Given the description of an element on the screen output the (x, y) to click on. 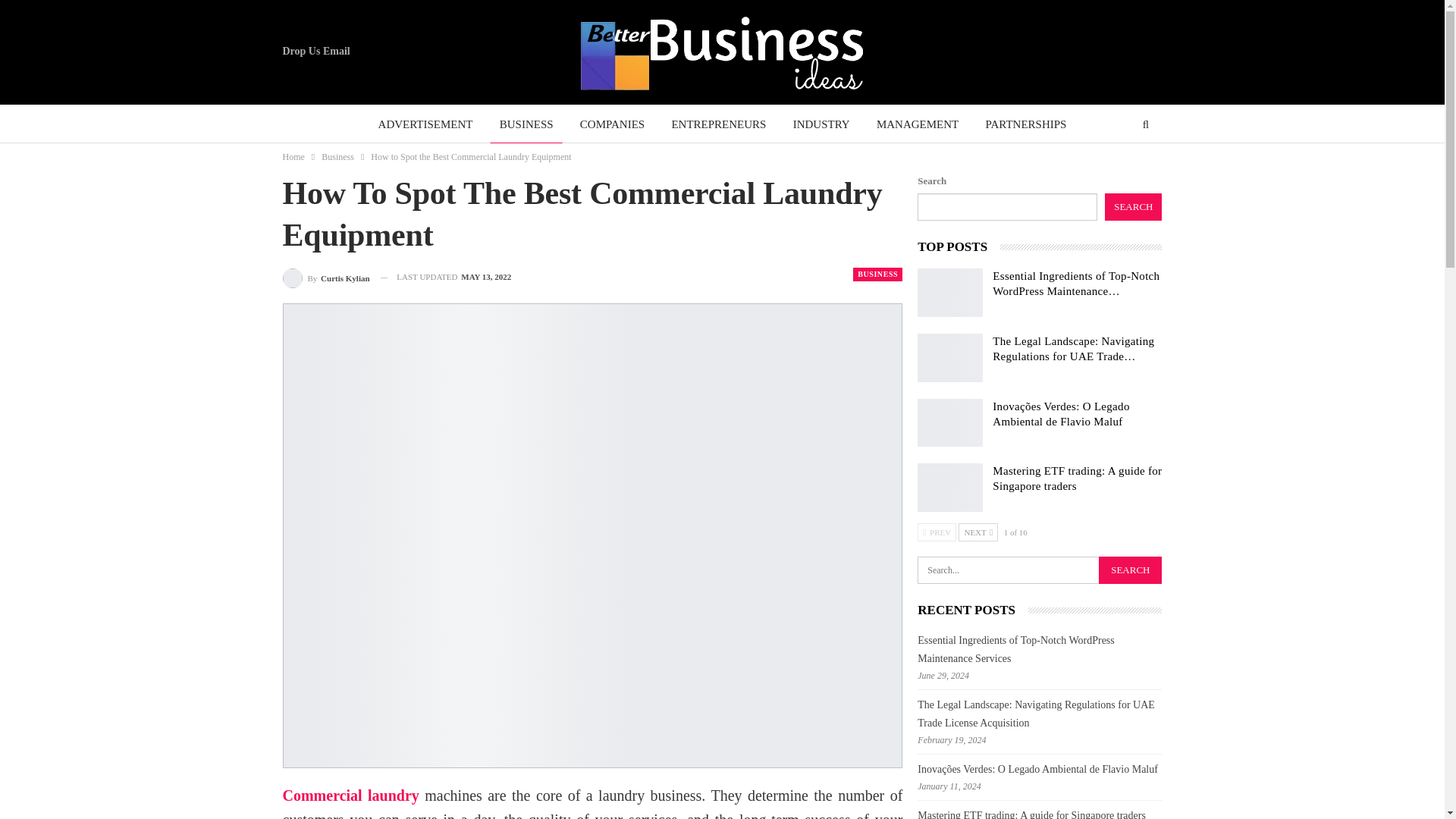
INDUSTRY (821, 124)
MANAGEMENT (917, 124)
COMPANIES (611, 124)
BUSINESS (526, 124)
PARTNERSHIPS (1025, 124)
Drop Us Email (315, 50)
Business (337, 156)
Search (1130, 569)
ADVERTISEMENT (425, 124)
